Given the description of an element on the screen output the (x, y) to click on. 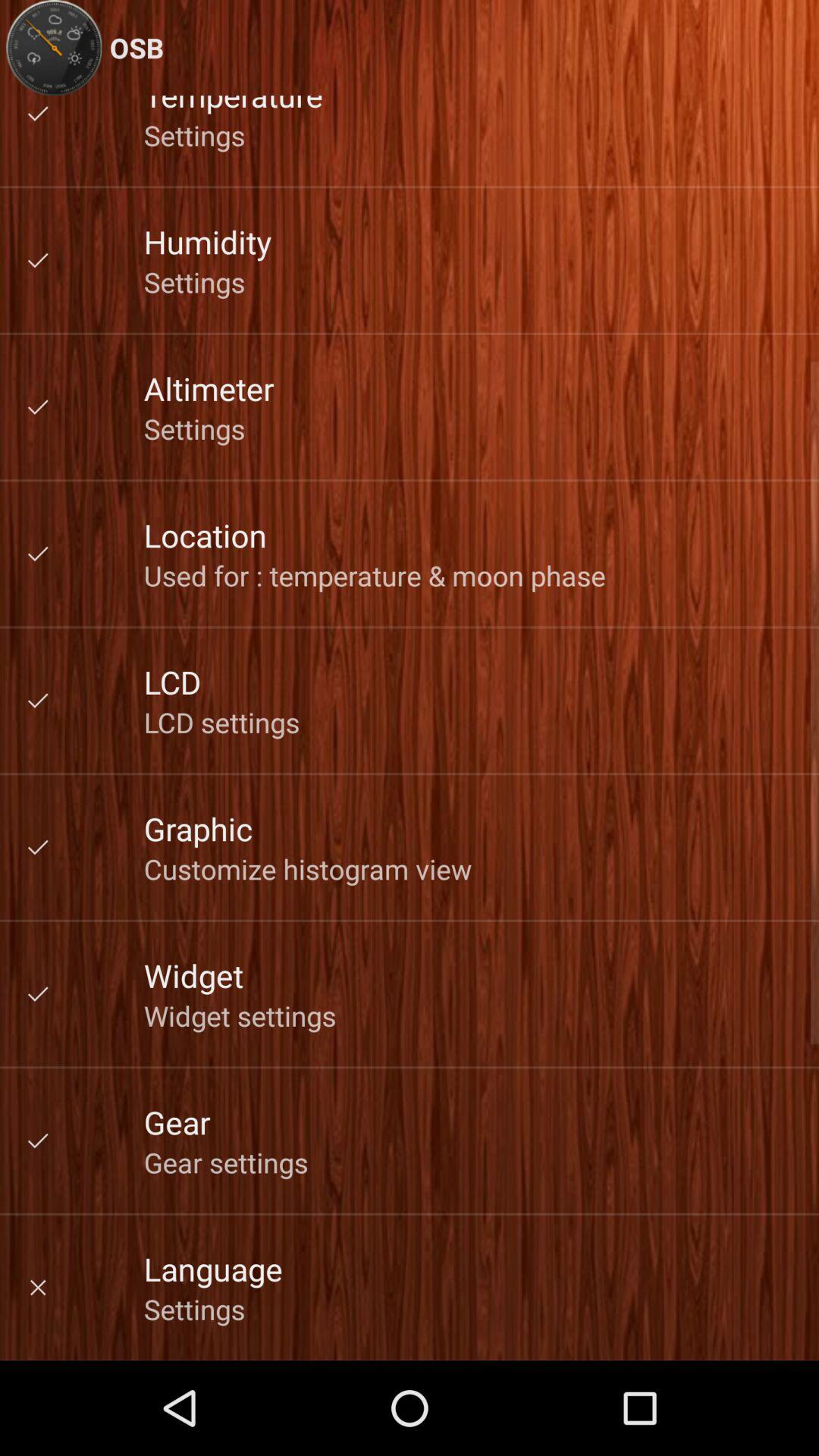
click item above the used for temperature app (204, 534)
